Given the description of an element on the screen output the (x, y) to click on. 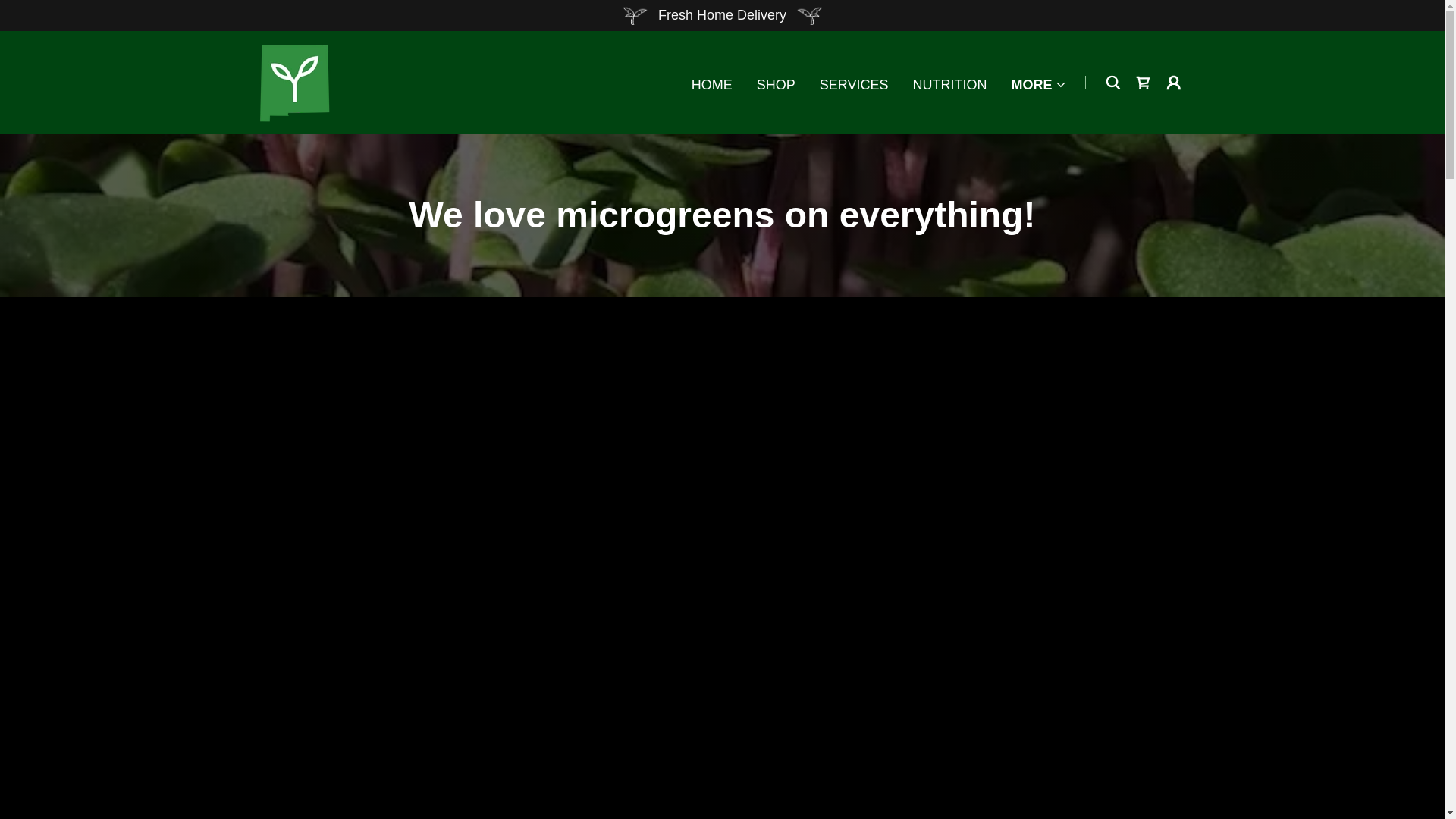
SERVICES (293, 81)
HOME (854, 84)
SHOP (711, 84)
MORE (775, 84)
NUTRITION (1038, 86)
